Given the description of an element on the screen output the (x, y) to click on. 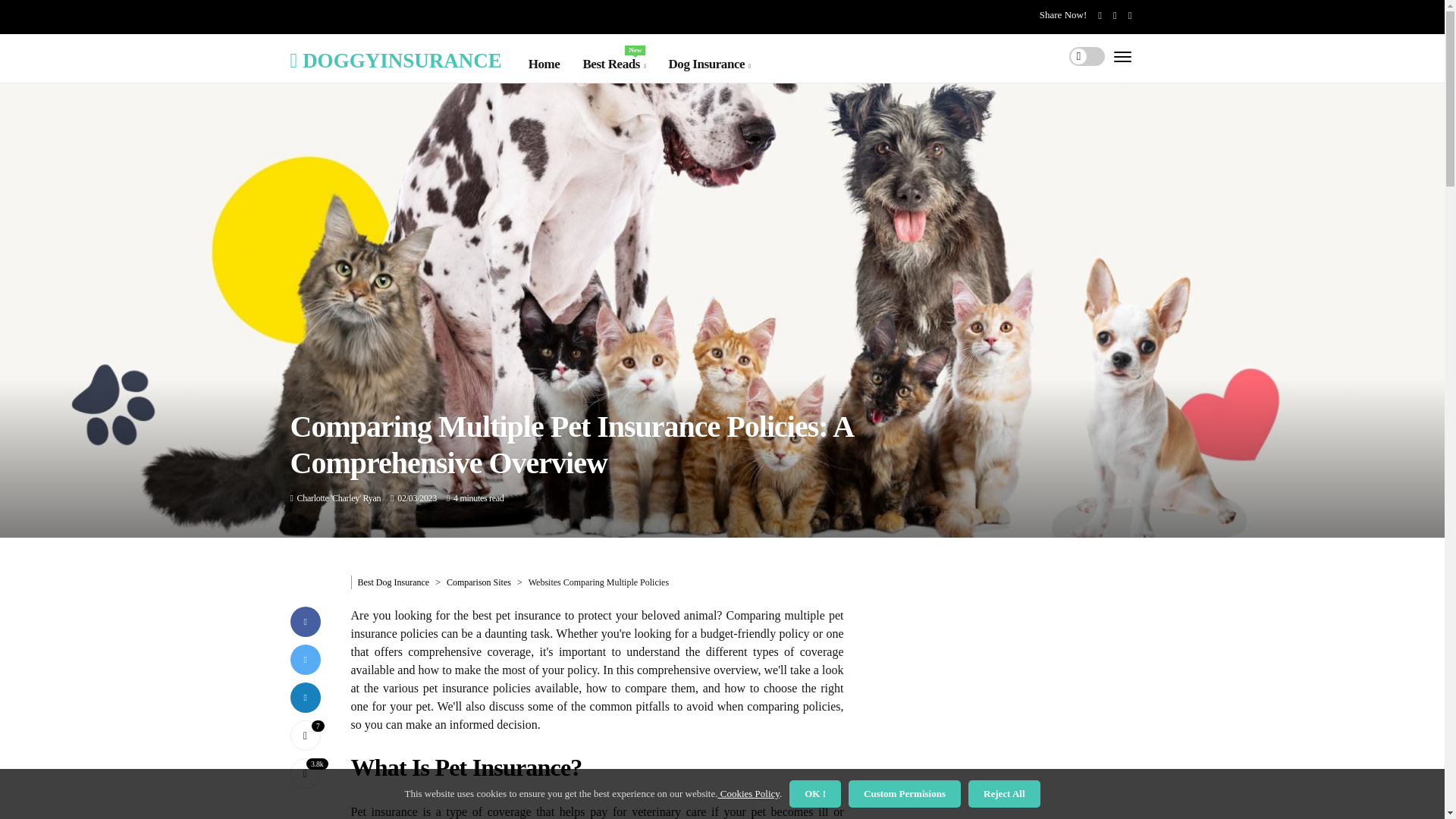
Dog Insurance (708, 64)
DOGGYINSURANCE (394, 59)
Posts by Charlotte 'Charley' Ryan (339, 498)
Like (304, 735)
Home (544, 64)
